Given the description of an element on the screen output the (x, y) to click on. 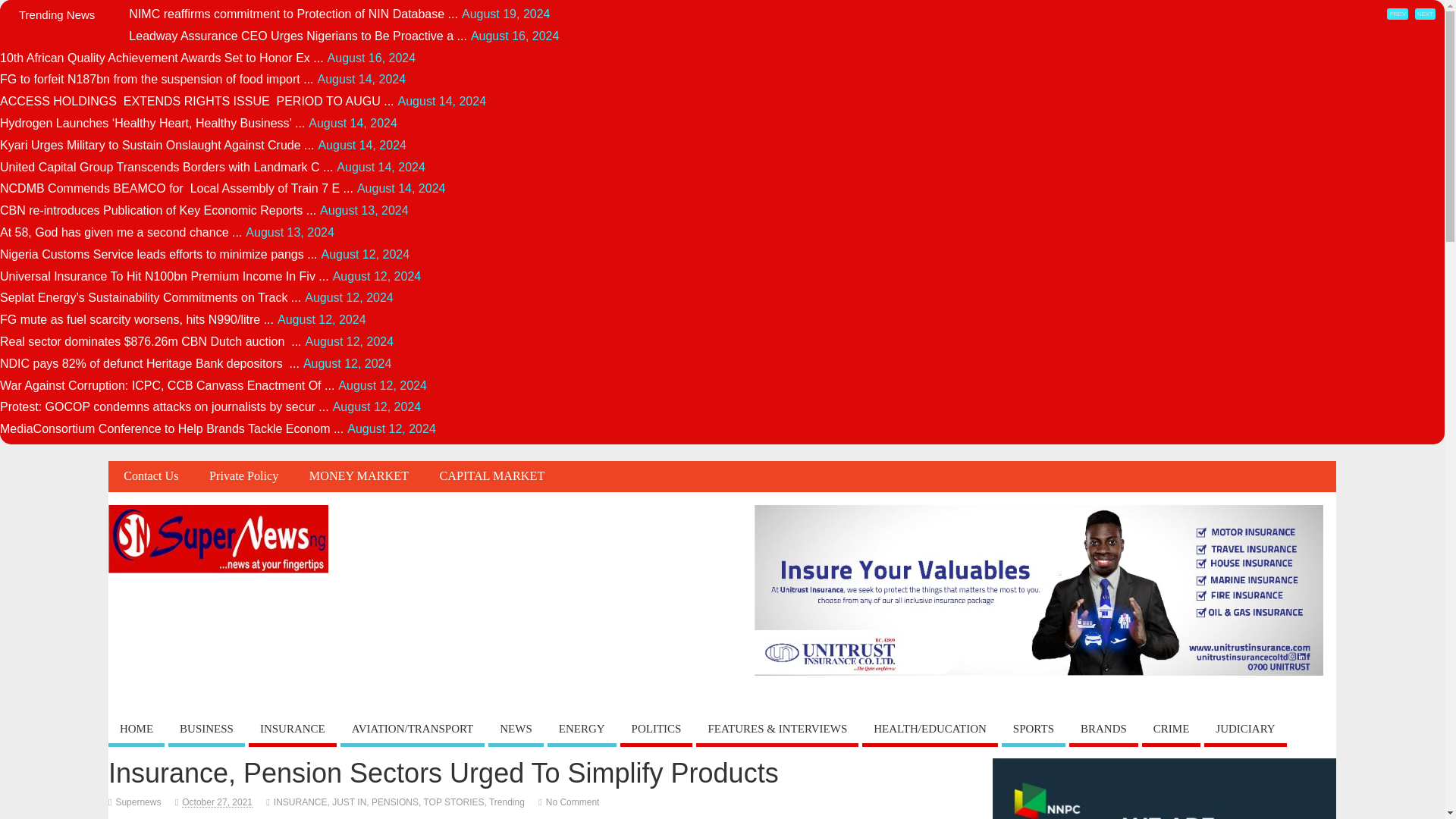
CAPITAL MARKET (491, 476)
Leadway Assurance CEO Urges Nigerians to Be Proactive a ... (298, 35)
At 58, God has given me a second chance ... (120, 232)
Universal Insurance To Hit N100bn Premium Income In Fiv ... (164, 276)
ACCESS HOLDINGS  EXTENDS RIGHTS ISSUE  PERIOD TO AUGU ... (197, 101)
War Against Corruption: ICPC, CCB Canvass Enactment Of ... (167, 385)
CBN re-introduces Publication of Key Economic Reports ... (157, 210)
United Capital Group Transcends Borders with Landmark C ... (166, 166)
Contact Us (150, 476)
Posts by Supernews (137, 801)
